Given the description of an element on the screen output the (x, y) to click on. 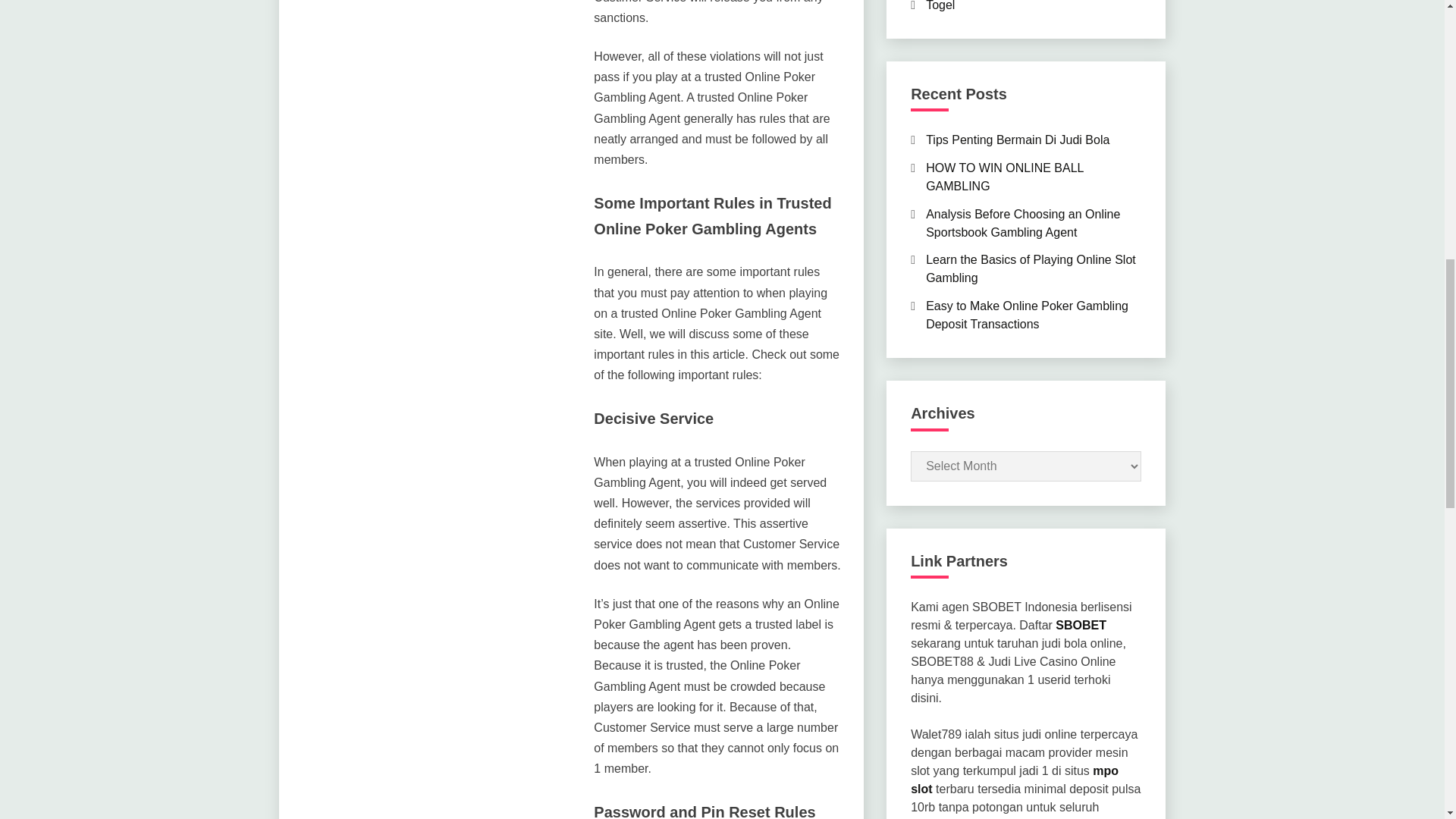
Tips Penting Bermain Di Judi Bola (1017, 139)
Analysis Before Choosing an Online Sportsbook Gambling Agent (1022, 223)
Learn the Basics of Playing Online Slot Gambling (1030, 268)
mpo slot (1014, 779)
Togel (940, 5)
Easy to Make Online Poker Gambling Deposit Transactions (1027, 314)
SBOBET (1080, 625)
HOW TO WIN ONLINE BALL GAMBLING (1004, 176)
